Given the description of an element on the screen output the (x, y) to click on. 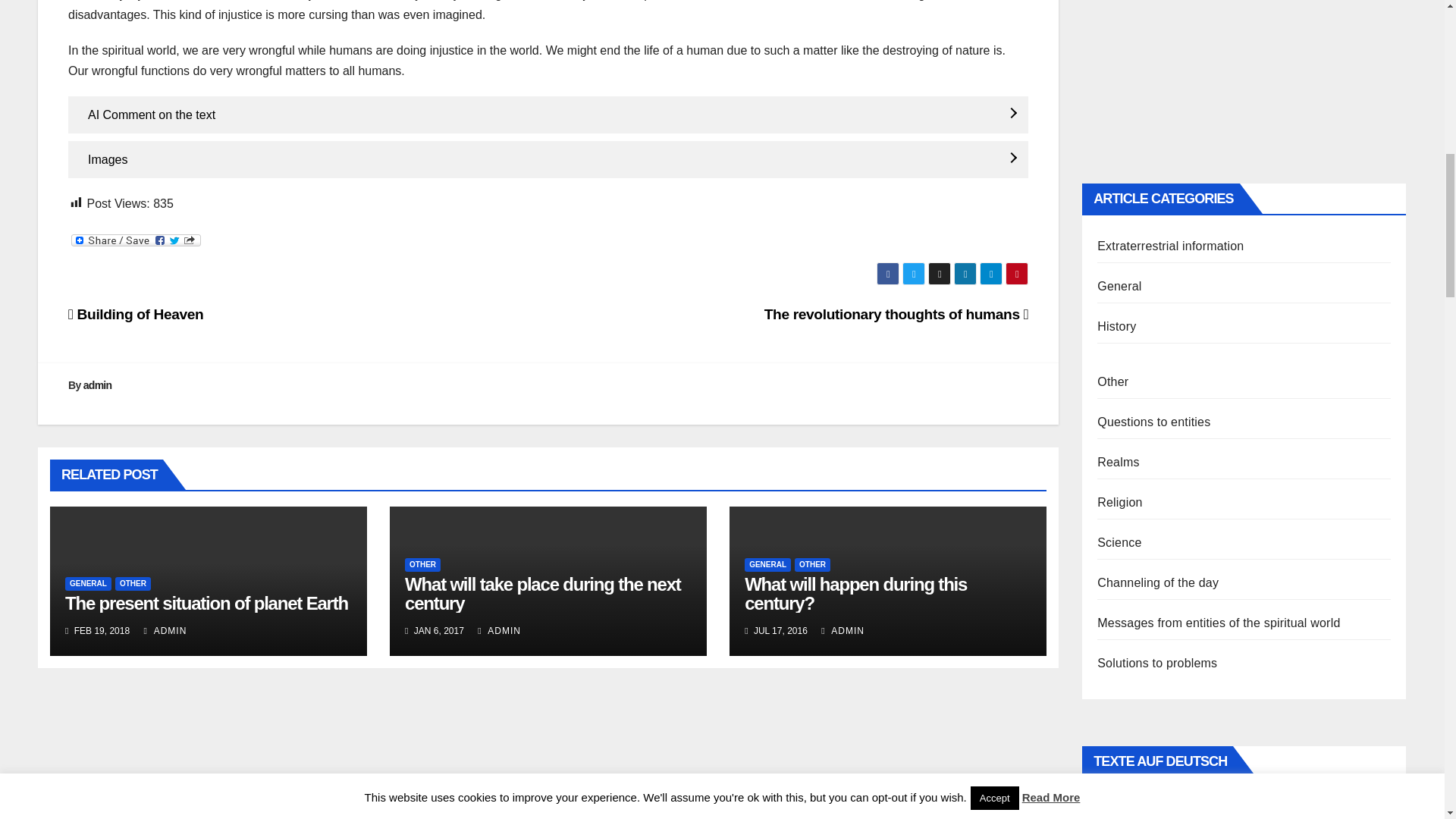
Permalink to: What will happen during this century? (855, 593)
Permalink to: The present situation of planet Earth (206, 602)
Advertisement (1243, 79)
Permalink to: What will take place during the next century (542, 593)
